Given the description of an element on the screen output the (x, y) to click on. 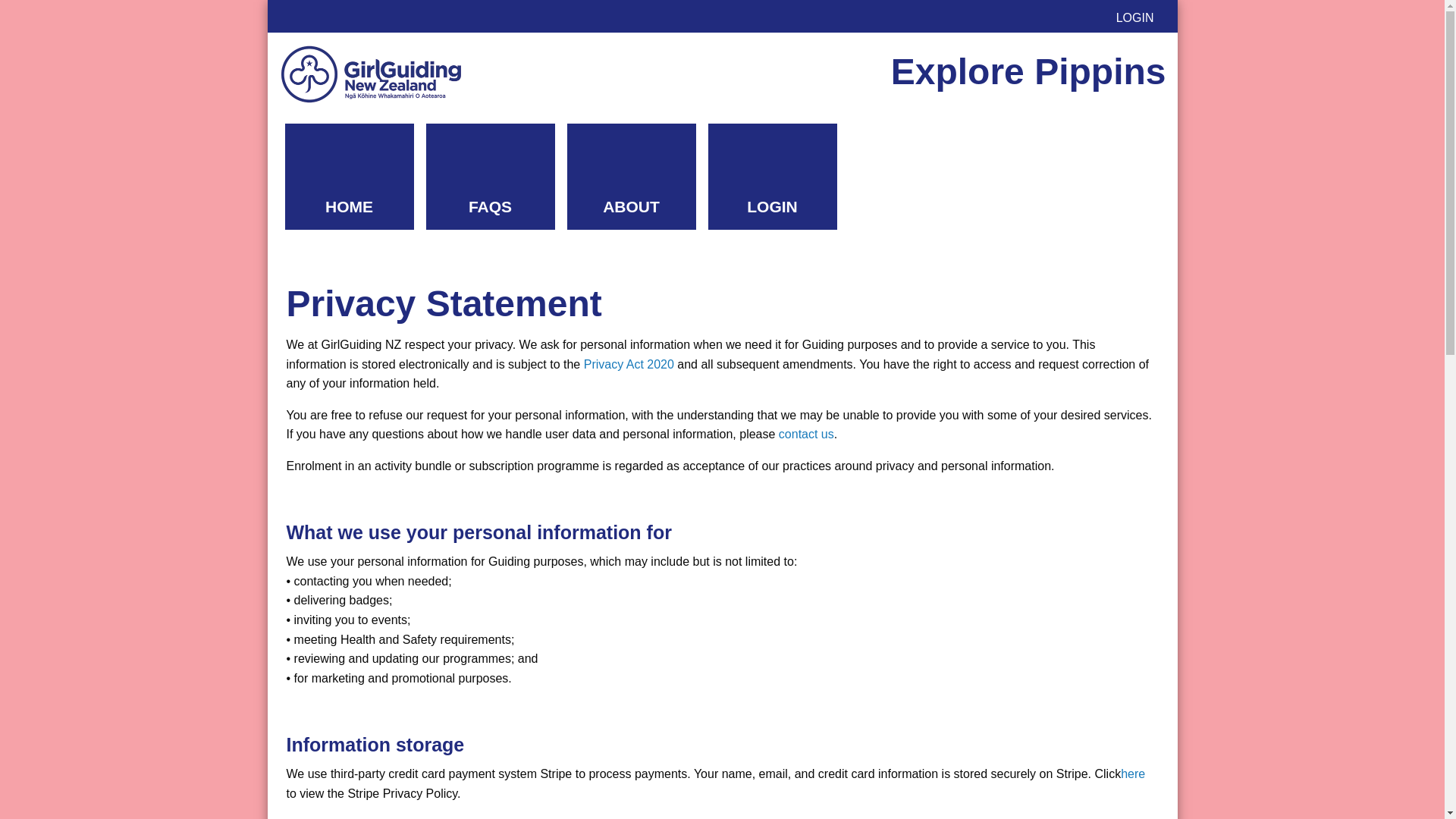
here (1132, 773)
LOGIN (1134, 18)
contact us (806, 433)
Privacy Act 2020 (628, 364)
Log In (722, 509)
FAQS (490, 176)
HOME (349, 176)
LOGIN (772, 176)
ABOUT (631, 176)
